Given the description of an element on the screen output the (x, y) to click on. 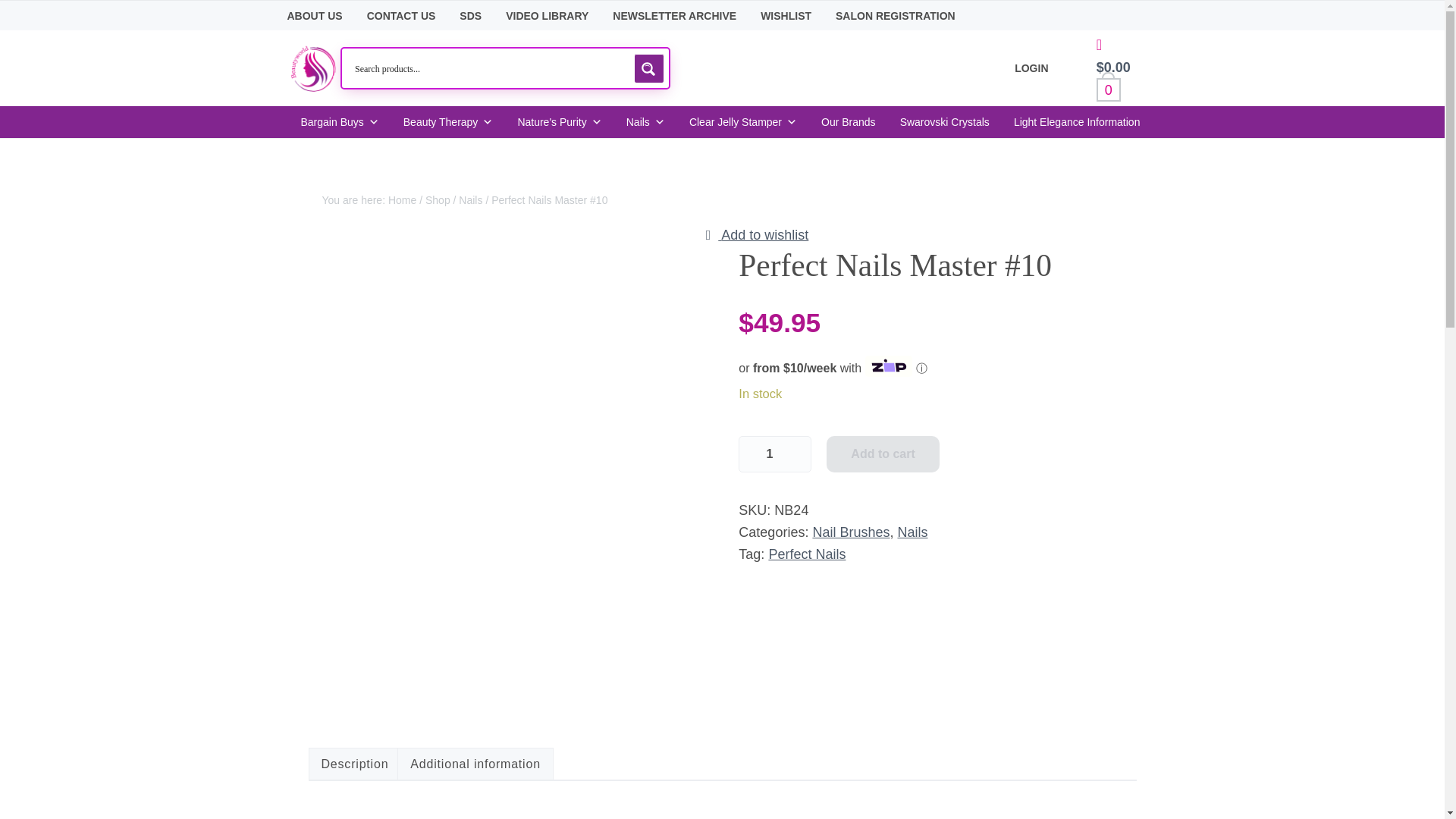
ABOUT US (314, 16)
LOGIN (1031, 67)
Nails (469, 200)
CONTACT US (400, 16)
Shop (437, 200)
NEWSLETTER ARCHIVE (674, 16)
1 (774, 453)
WISHLIST (785, 16)
SALON REGISTRATION (895, 16)
SDS (470, 16)
View your shopping cart (1120, 56)
VIDEO LIBRARY (546, 16)
